Given the description of an element on the screen output the (x, y) to click on. 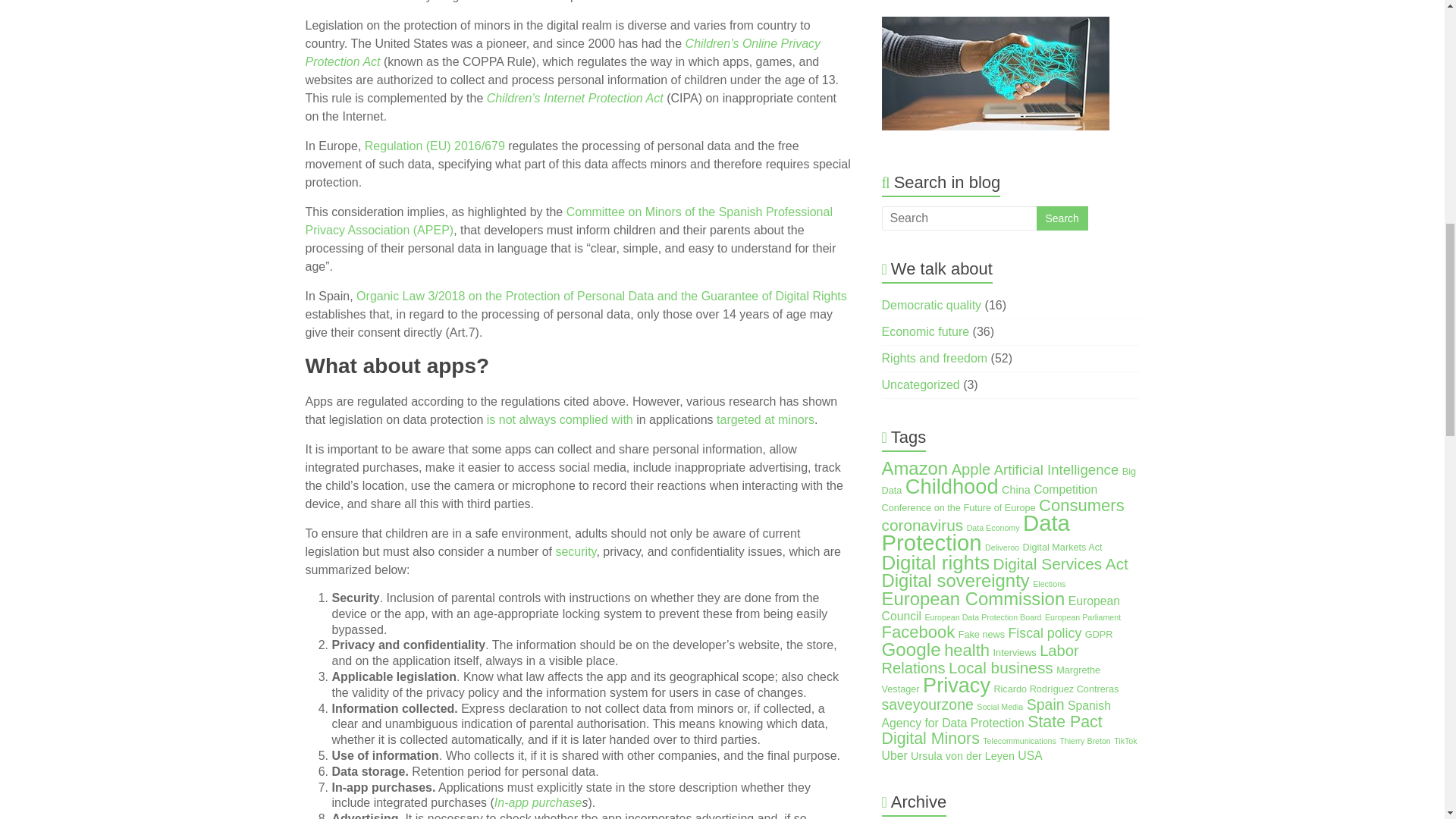
Search (1061, 218)
In-app purchase (538, 802)
security (574, 551)
is not always complied with (559, 419)
targeted at minors (764, 419)
